Given the description of an element on the screen output the (x, y) to click on. 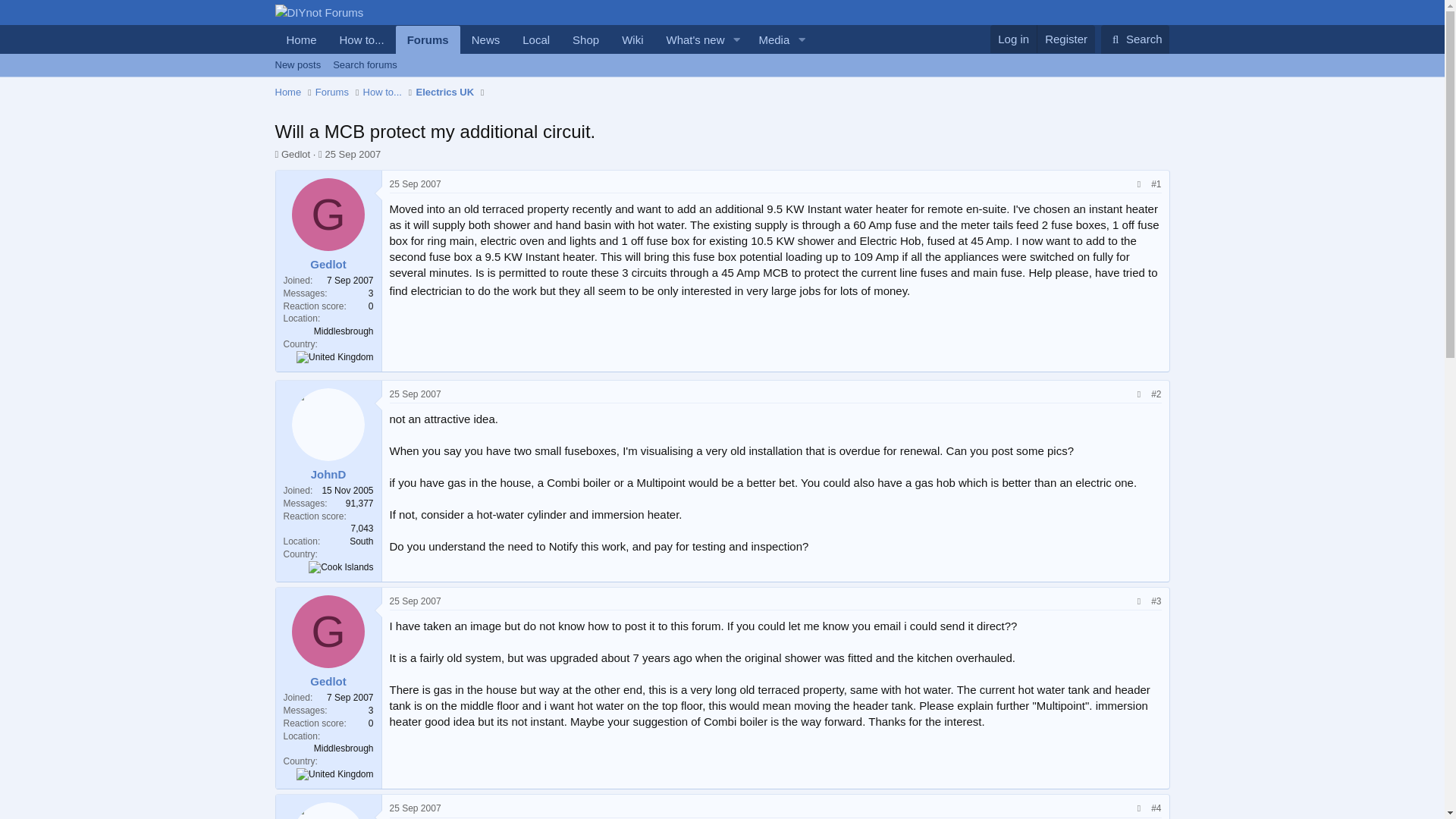
Register (1065, 39)
Media (768, 39)
Home (542, 39)
25 Sep 2007 at 3:32 PM (288, 92)
Local (415, 808)
Search (535, 39)
25 Sep 2007 at 2:17 PM (1135, 39)
United Kingdom (352, 153)
Search (334, 357)
